Given the description of an element on the screen output the (x, y) to click on. 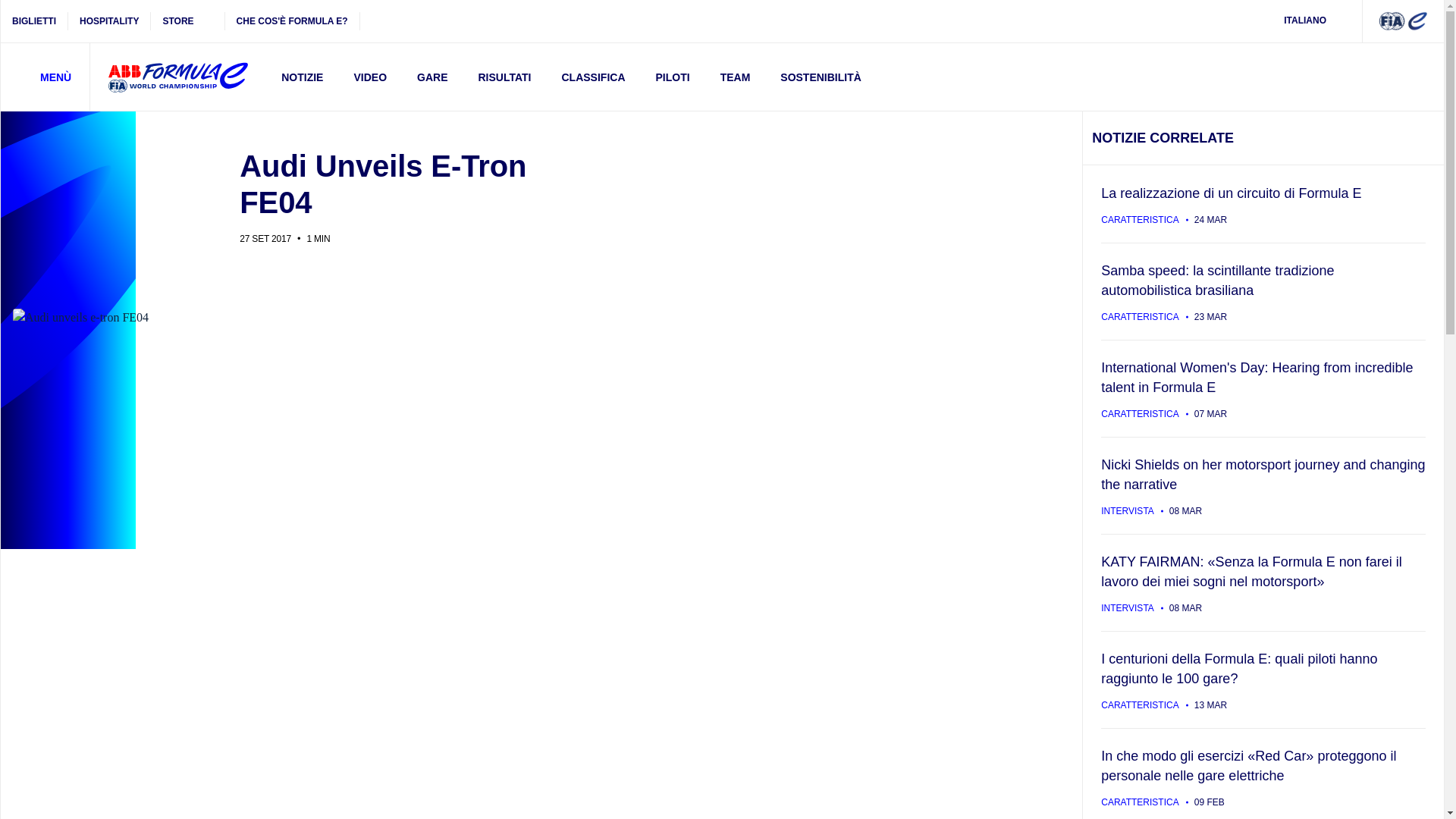
STORE (187, 21)
HOSPITALITY (109, 21)
ITALIANO (1315, 20)
BIGLIETTI (34, 21)
NOTIZIE (301, 76)
VIDEO (369, 76)
La realizzazione di un circuito di Formula E (1262, 203)
